Given the description of an element on the screen output the (x, y) to click on. 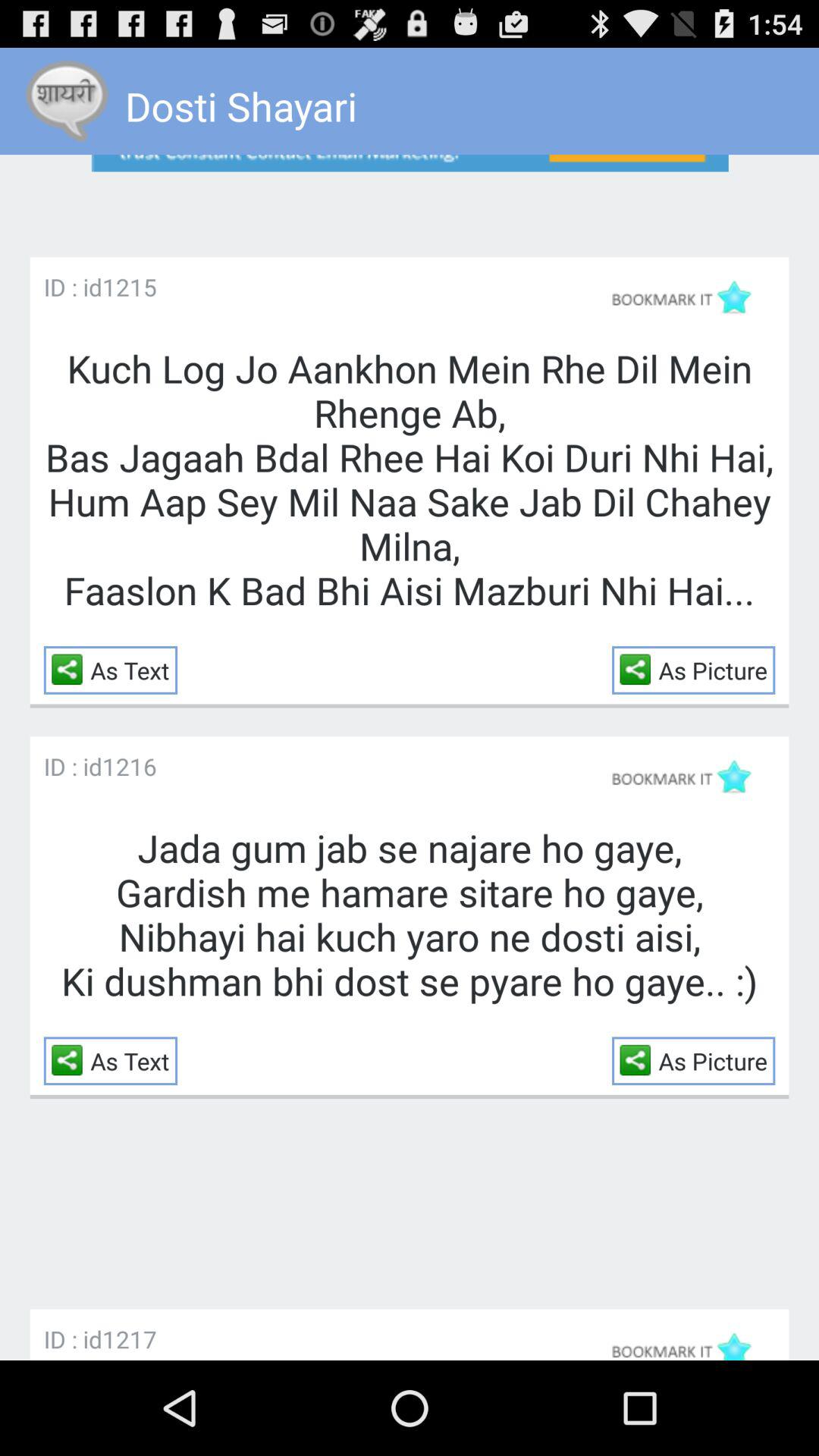
open the icon to the left of as picture item (638, 1059)
